Given the description of an element on the screen output the (x, y) to click on. 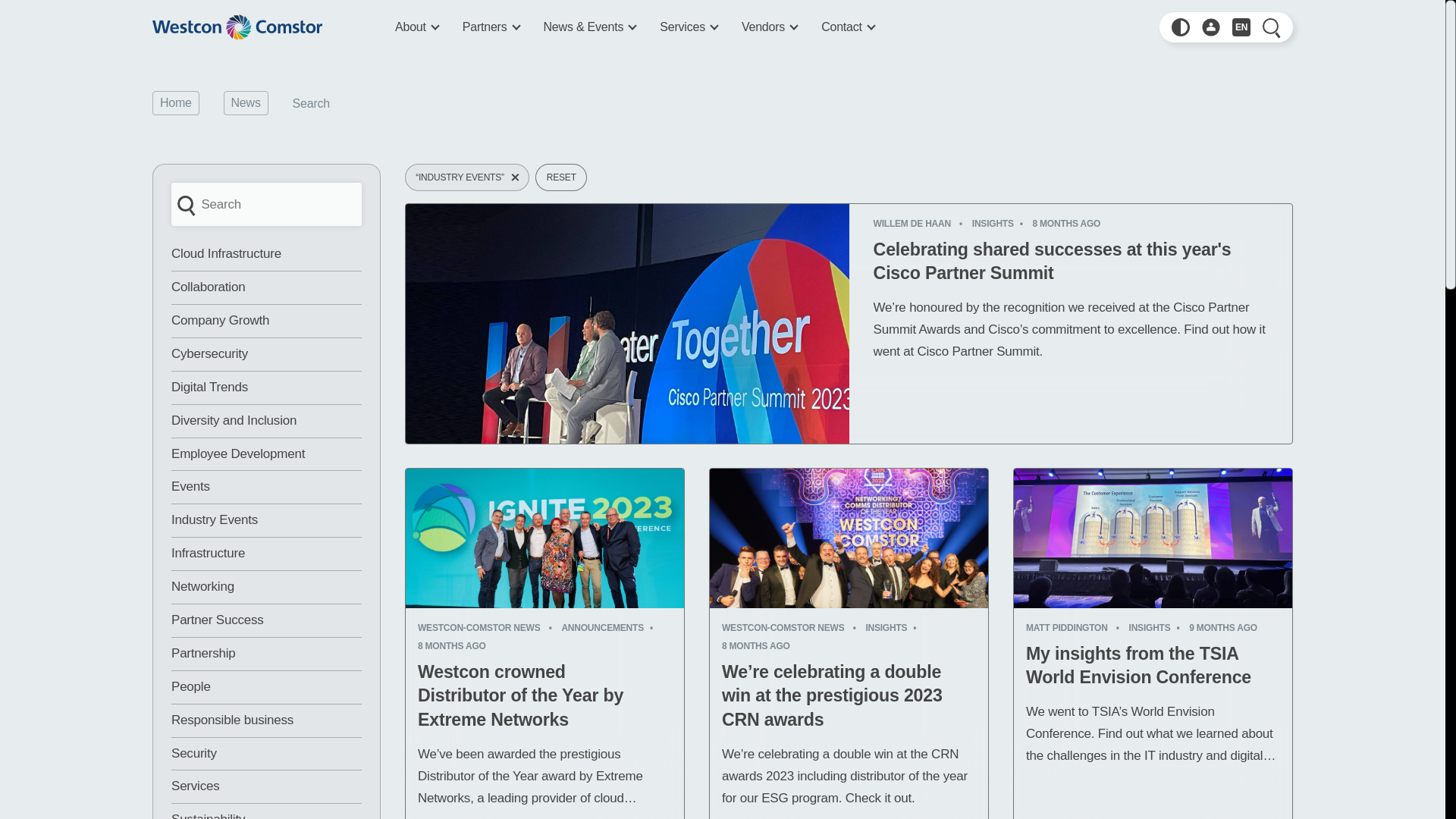
Partners (491, 27)
Services (688, 27)
About (416, 27)
Skip to main content (193, 1)
